Given the description of an element on the screen output the (x, y) to click on. 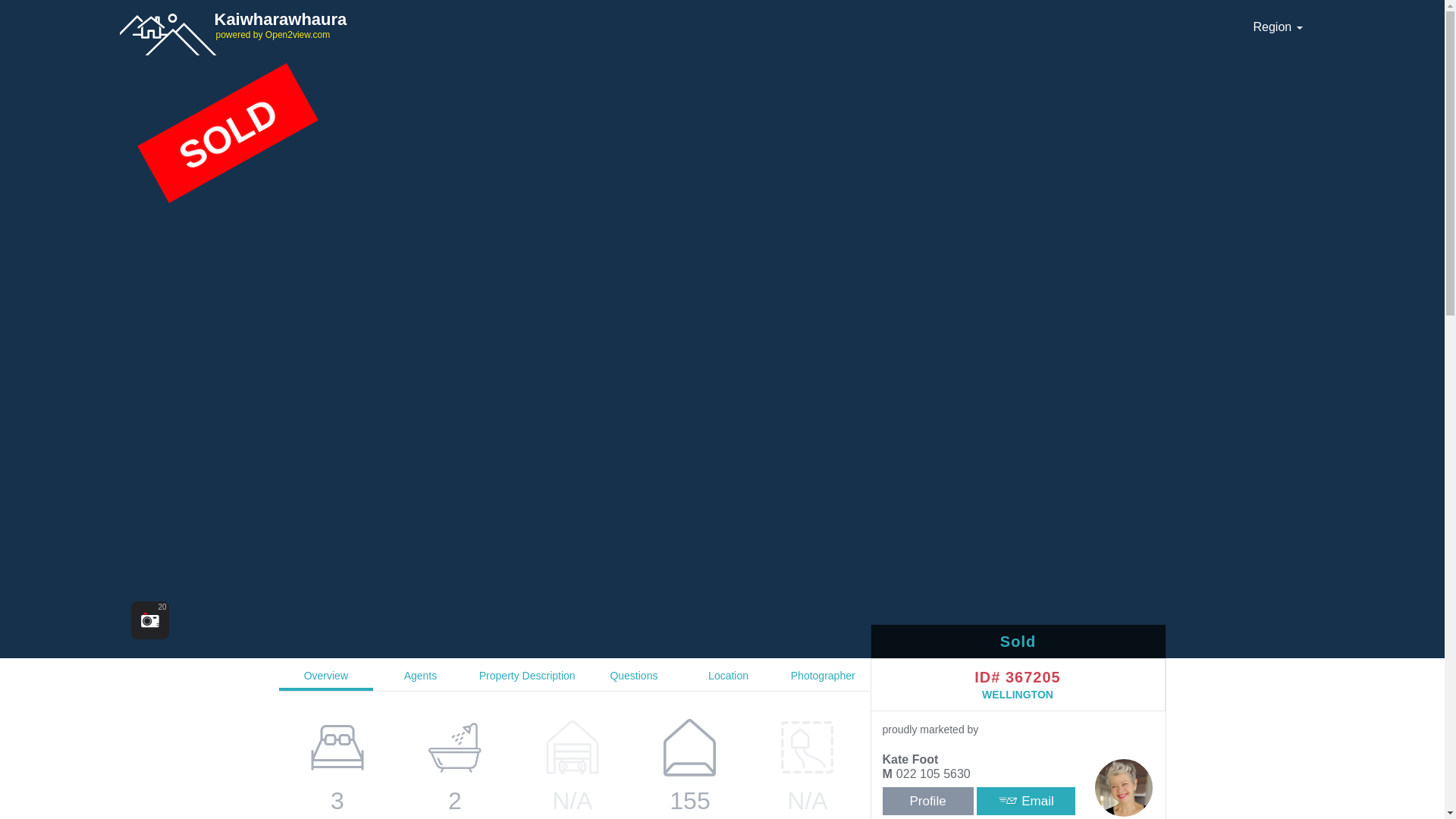
Kaiwharawhaura (369, 19)
